Given the description of an element on the screen output the (x, y) to click on. 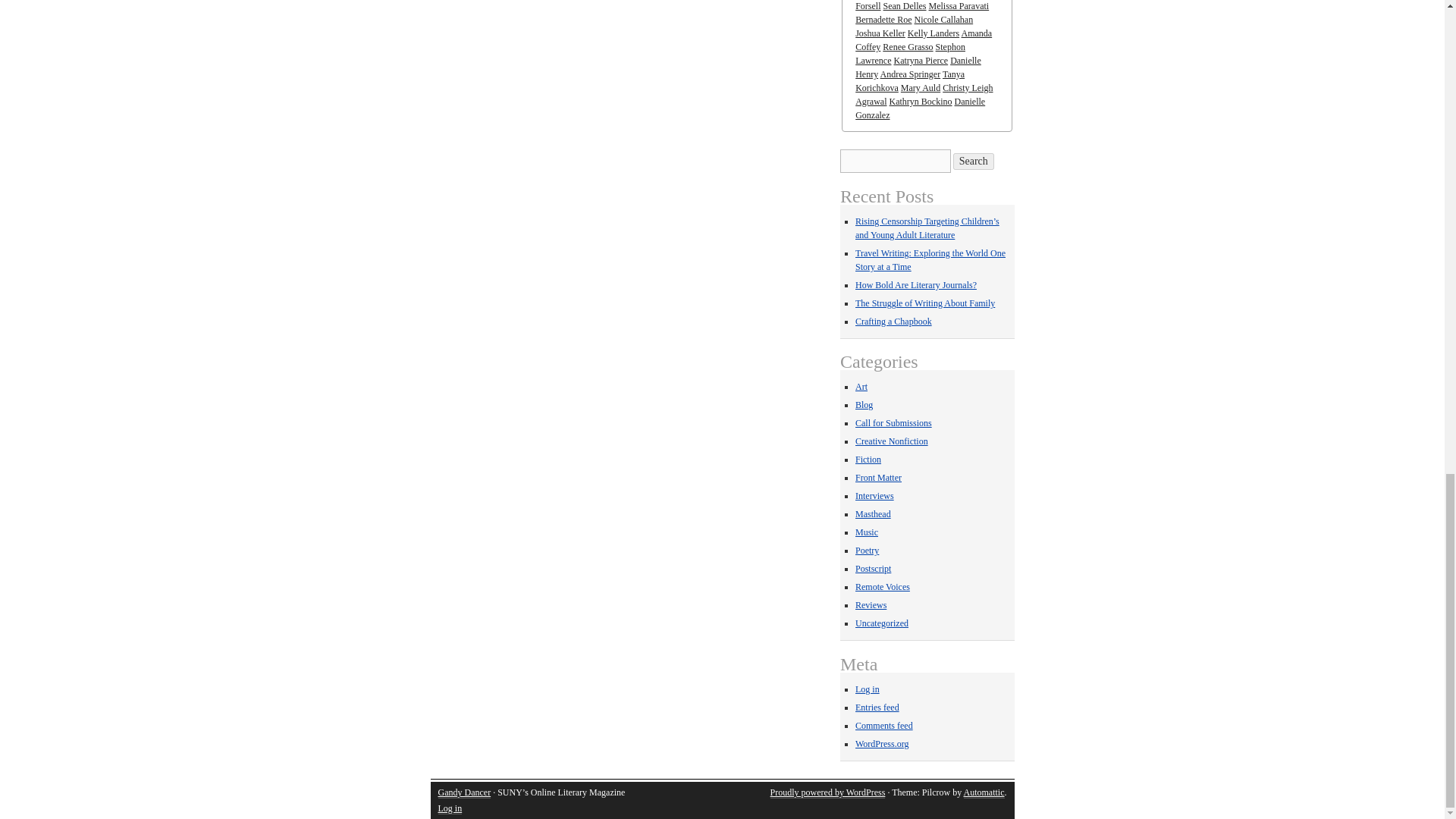
Search (973, 161)
